Given the description of an element on the screen output the (x, y) to click on. 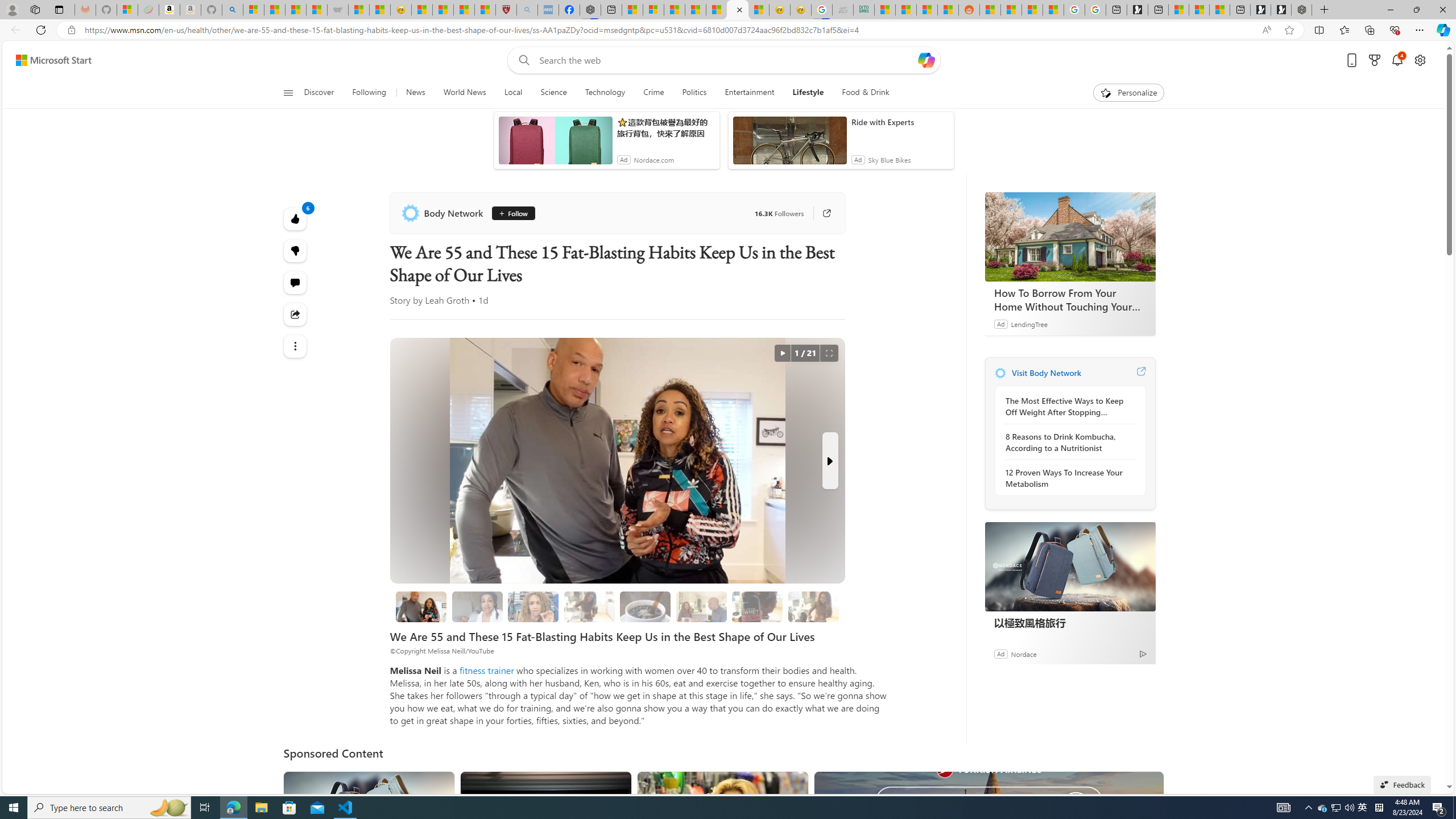
5 She Eats Less Than Her Husband (701, 606)
6 Like (295, 218)
